Given the description of an element on the screen output the (x, y) to click on. 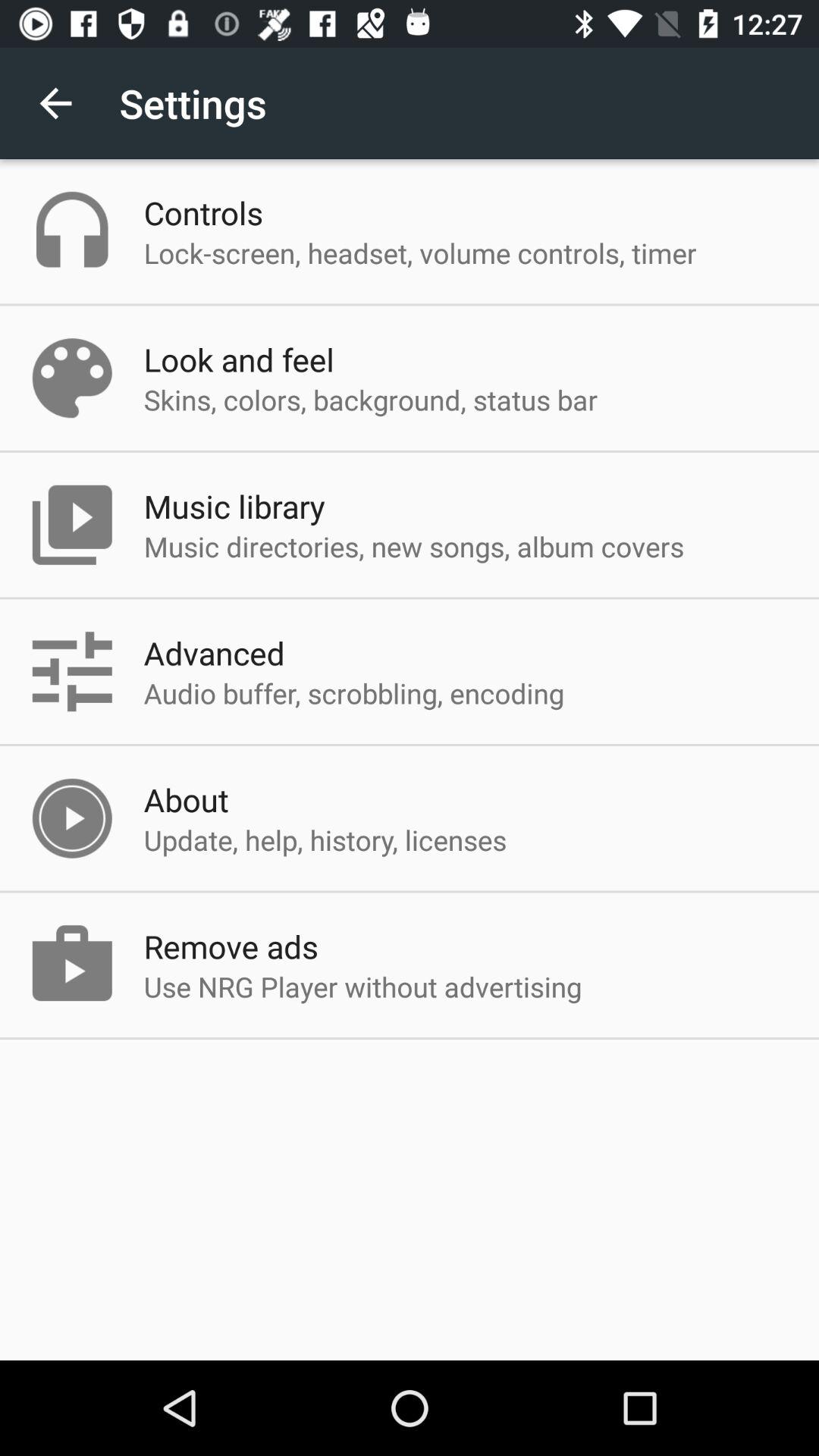
open icon above about icon (353, 693)
